Given the description of an element on the screen output the (x, y) to click on. 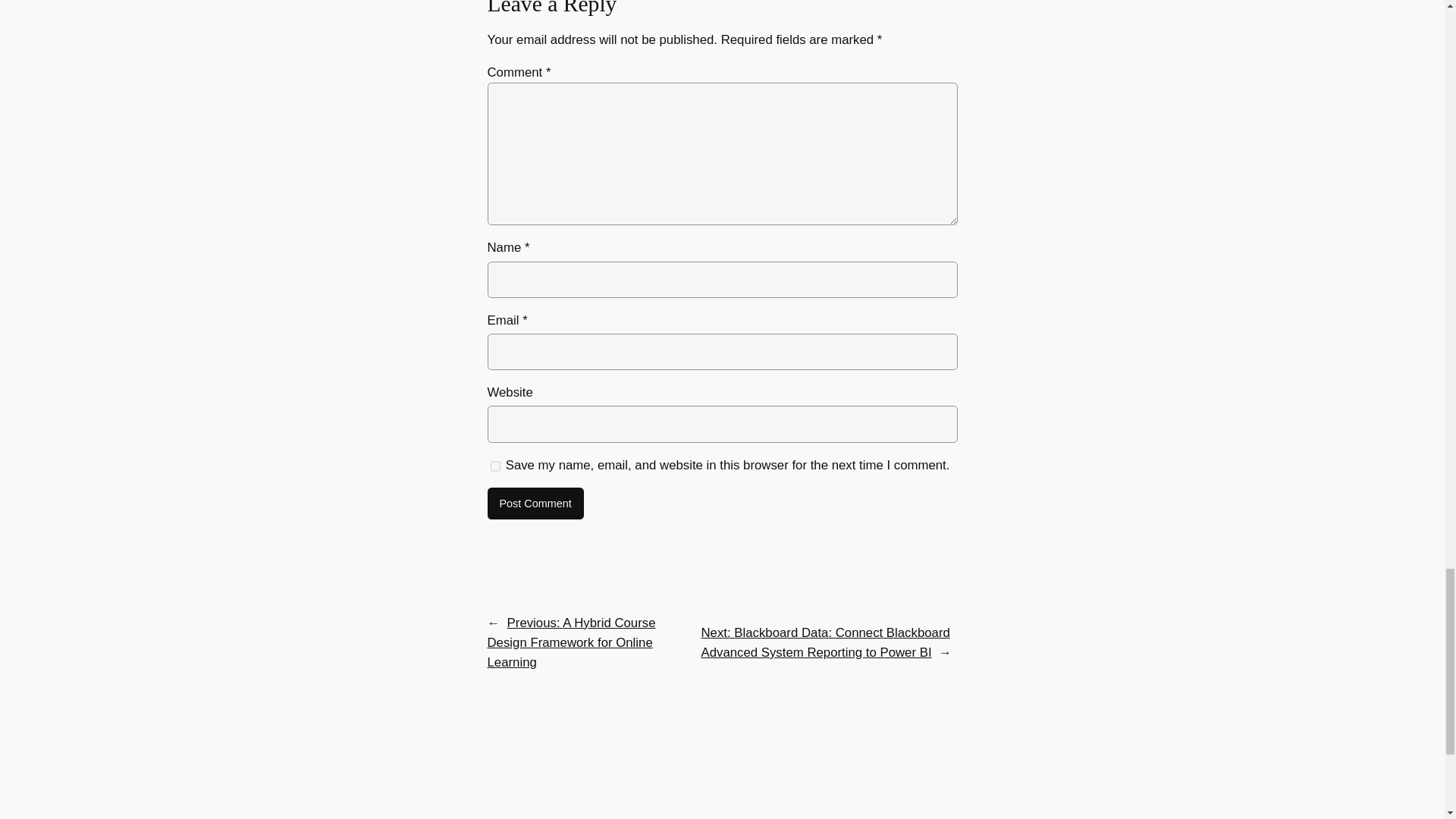
Post Comment (534, 503)
Post Comment (534, 503)
